Given the description of an element on the screen output the (x, y) to click on. 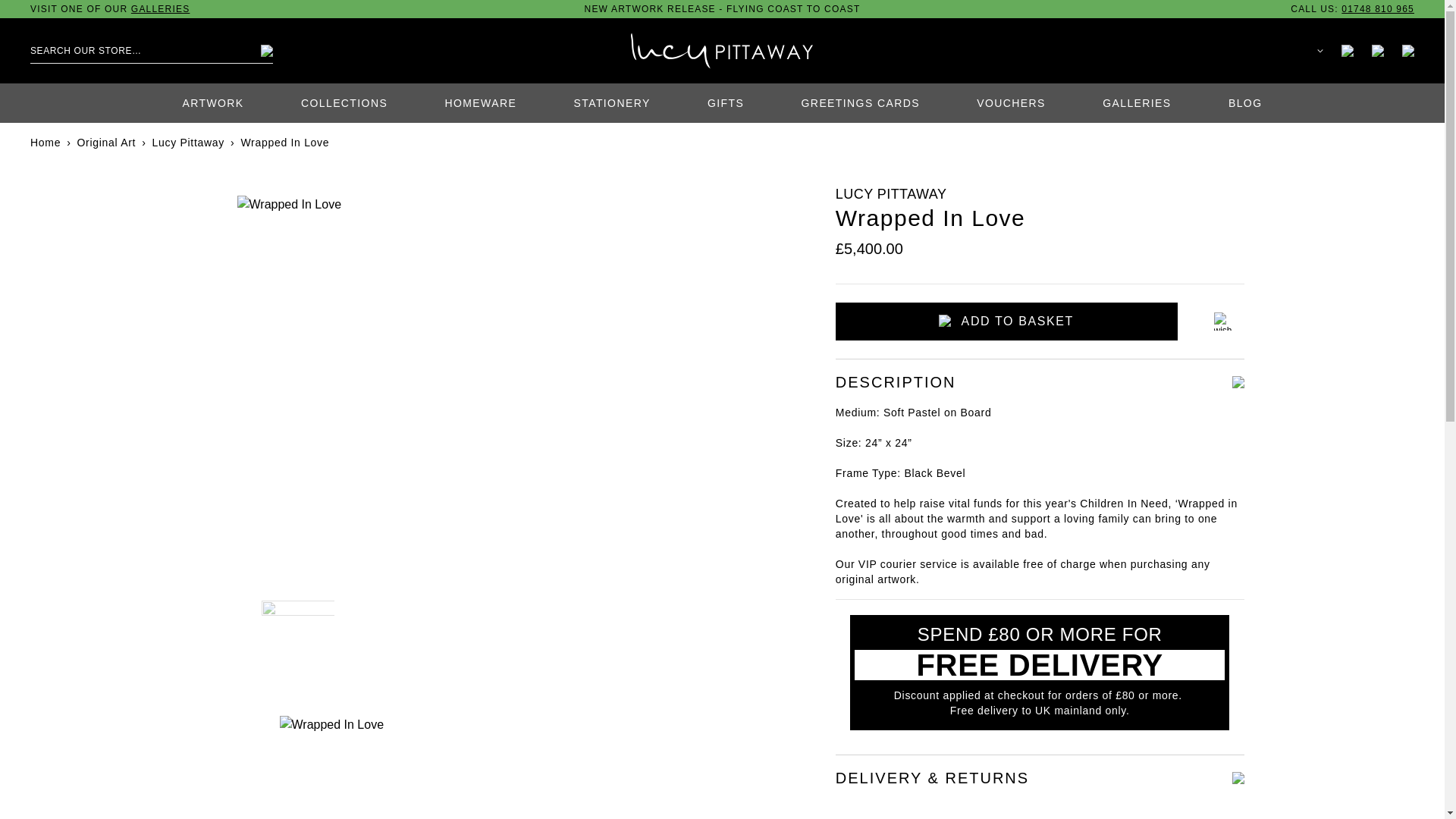
COLLECTIONS (343, 102)
ARTWORK (213, 102)
01748 810 965 (1376, 9)
NEW ARTWORK RELEASE - FLYING COAST TO COAST (722, 9)
GALLERIES (160, 9)
